Given the description of an element on the screen output the (x, y) to click on. 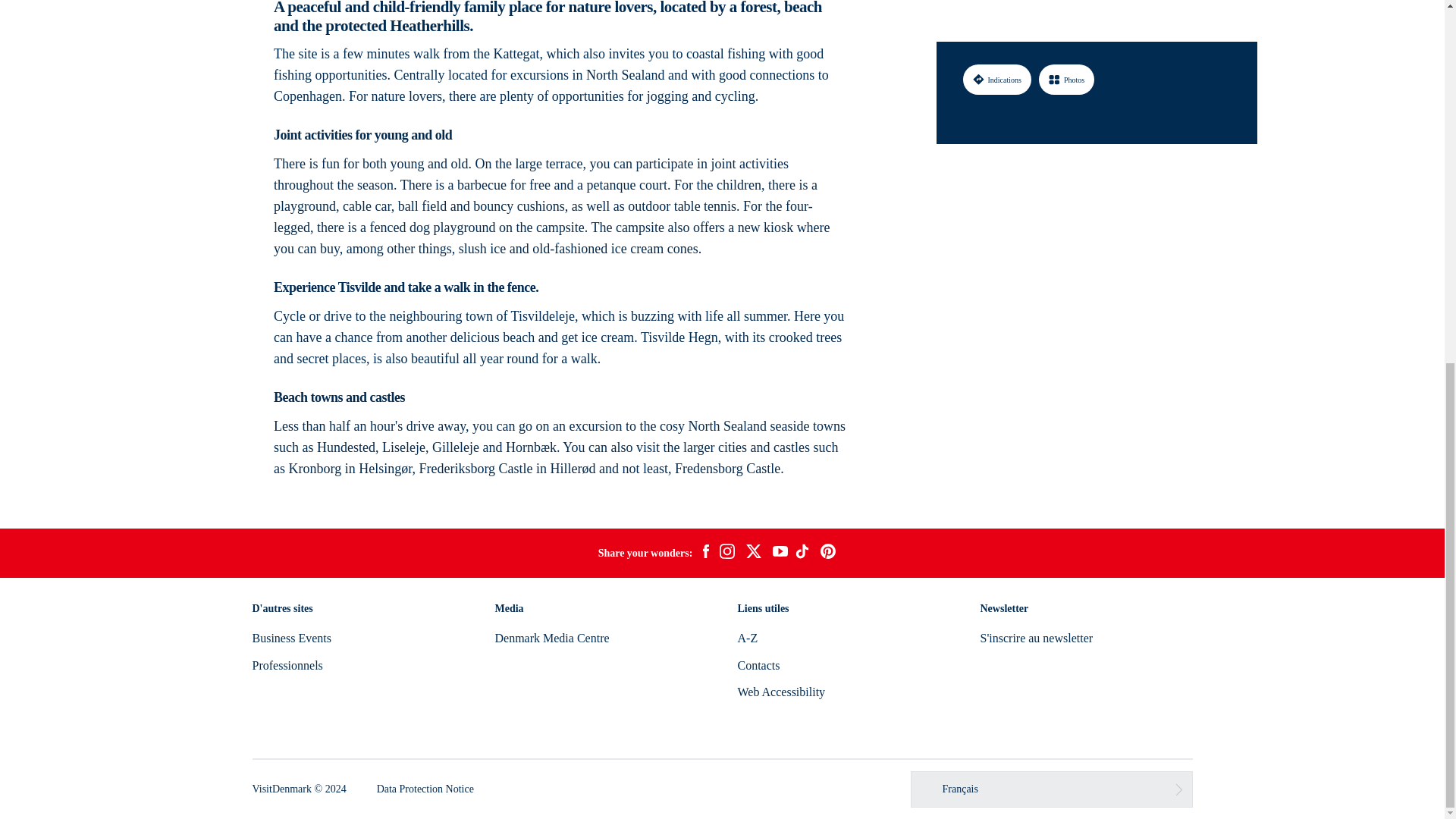
A-Z (746, 637)
Web Accessibility (780, 691)
youtube (780, 553)
Denmark Media Centre (551, 637)
Denmark Media Centre (551, 637)
Contacts (757, 665)
S'inscrire au newsletter (1036, 637)
instagram (726, 553)
Professionnels (286, 665)
Business Events (290, 637)
